Given the description of an element on the screen output the (x, y) to click on. 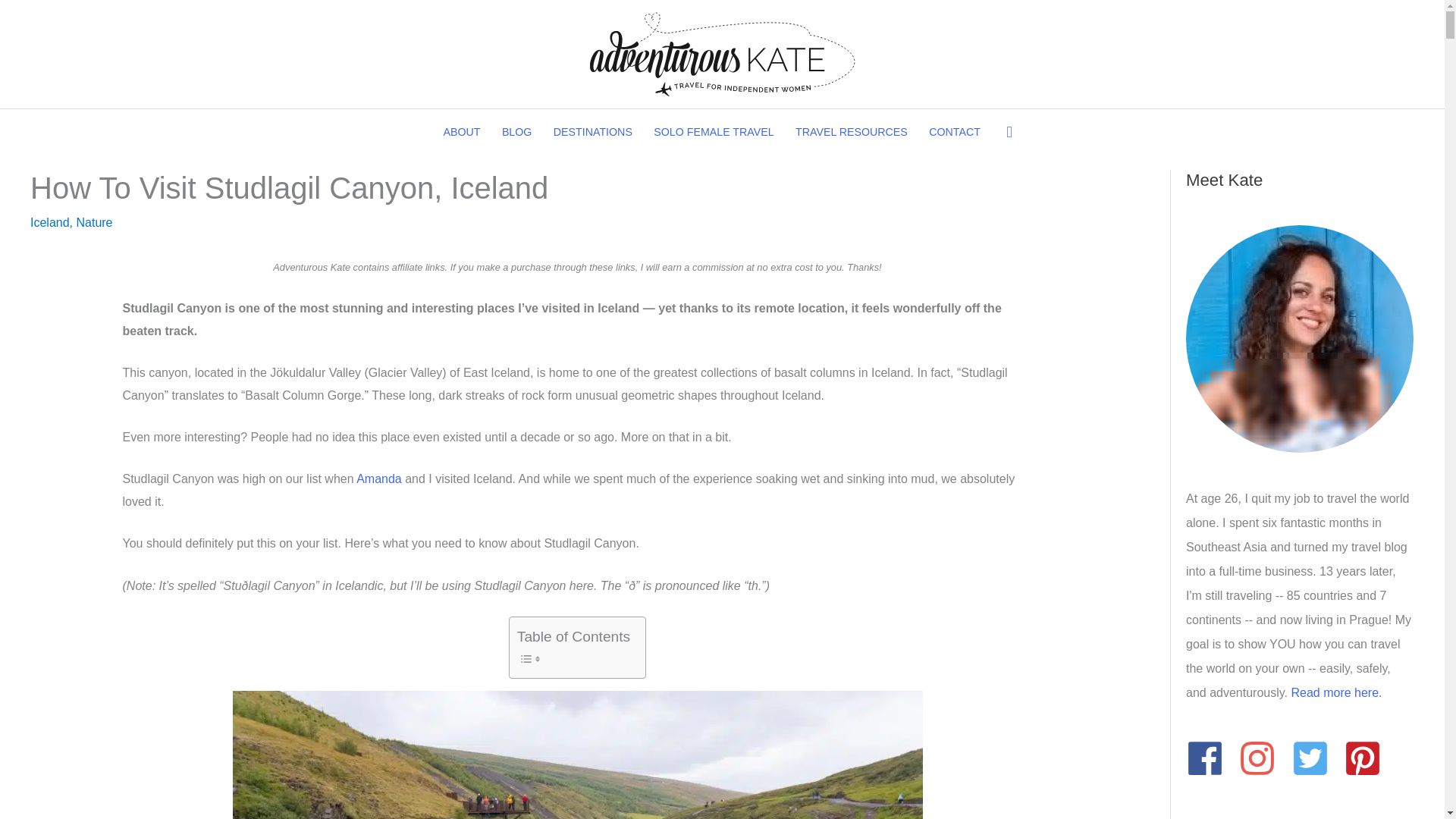
BLOG (517, 131)
DESTINATIONS (593, 131)
CONTACT (954, 131)
TRAVEL RESOURCES (851, 131)
Nature (93, 222)
kate (1299, 338)
Iceland (49, 222)
ABOUT (461, 131)
SOLO FEMALE TRAVEL (713, 131)
Amanda (378, 478)
